Given the description of an element on the screen output the (x, y) to click on. 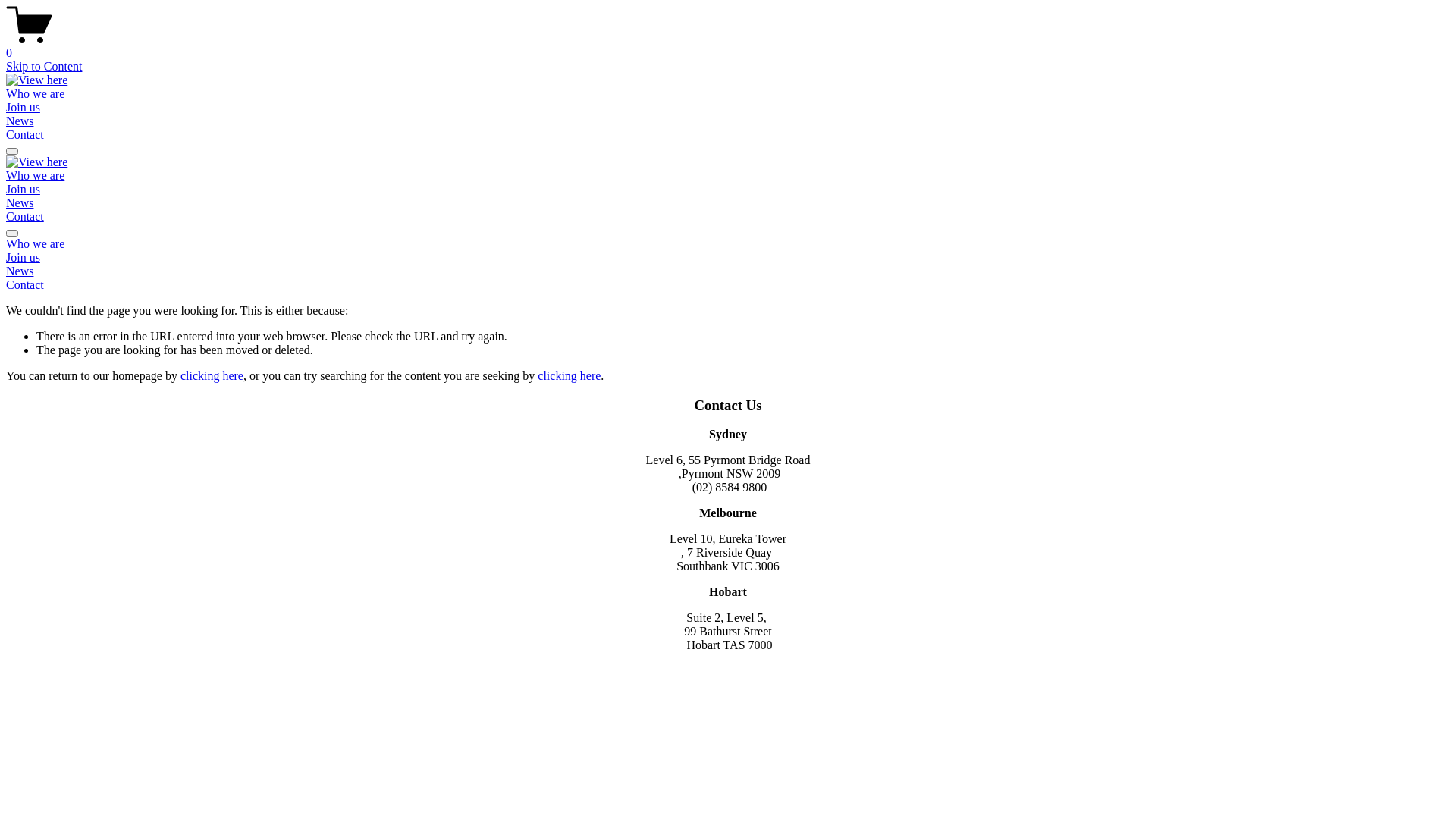
Who we are Element type: text (35, 175)
News Element type: text (727, 271)
Skip to Content Element type: text (43, 65)
clicking here Element type: text (568, 375)
Join us Element type: text (727, 257)
0 Element type: text (727, 45)
Contact Element type: text (24, 216)
clicking here Element type: text (211, 375)
Join us Element type: text (23, 106)
Who we are Element type: text (35, 93)
Join us Element type: text (23, 188)
Contact Element type: text (24, 134)
Who we are Element type: text (727, 244)
Contact Element type: text (727, 284)
News Element type: text (19, 120)
News Element type: text (19, 202)
